Given the description of an element on the screen output the (x, y) to click on. 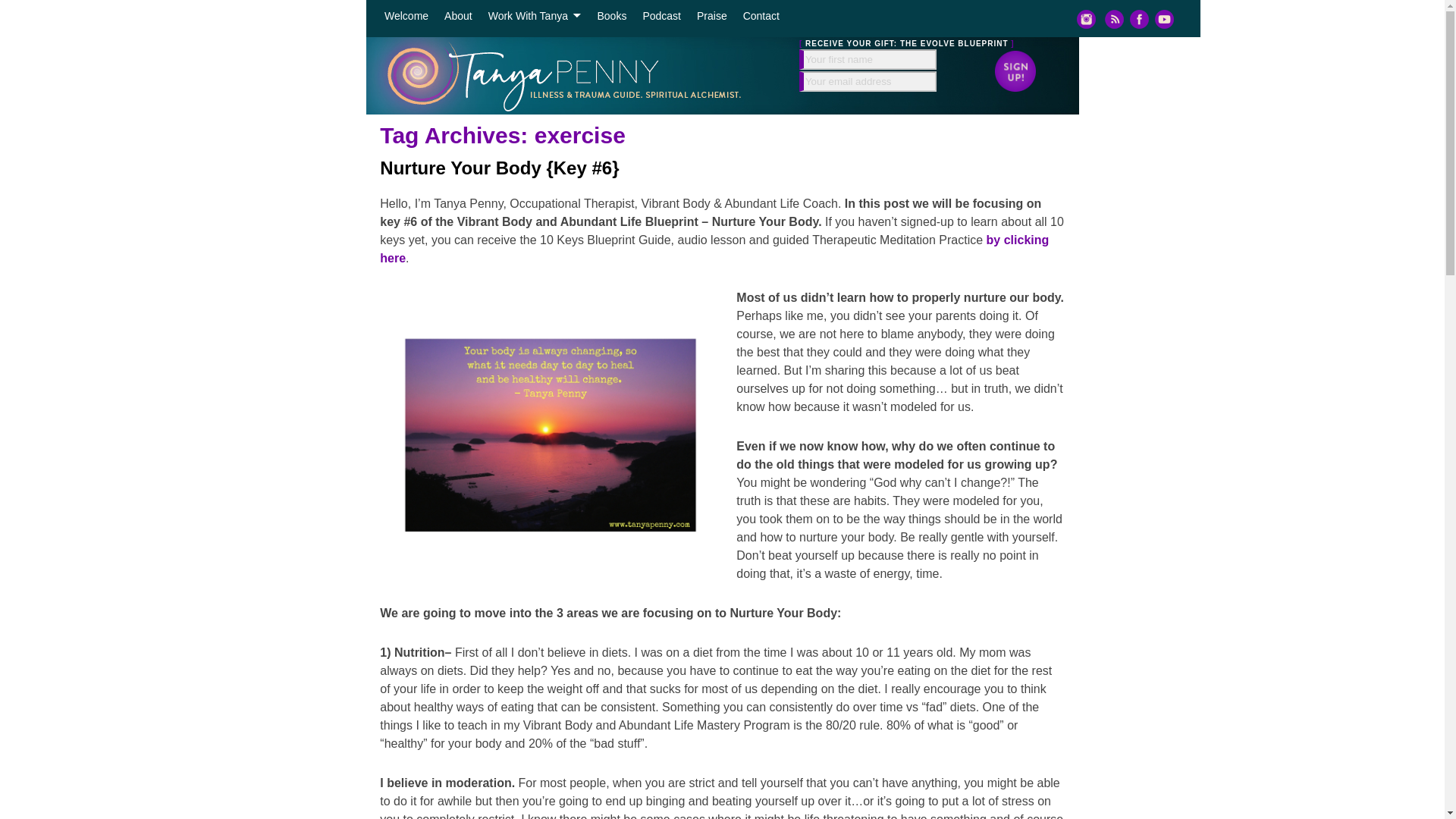
About (458, 15)
Books (611, 15)
Contact (761, 15)
by clicking here (714, 248)
Sign Up! (1008, 70)
Podcast (661, 15)
Your email address (867, 81)
Your first name (867, 59)
Praise (711, 15)
Welcome (405, 15)
Work With Tanya (534, 15)
